Given the description of an element on the screen output the (x, y) to click on. 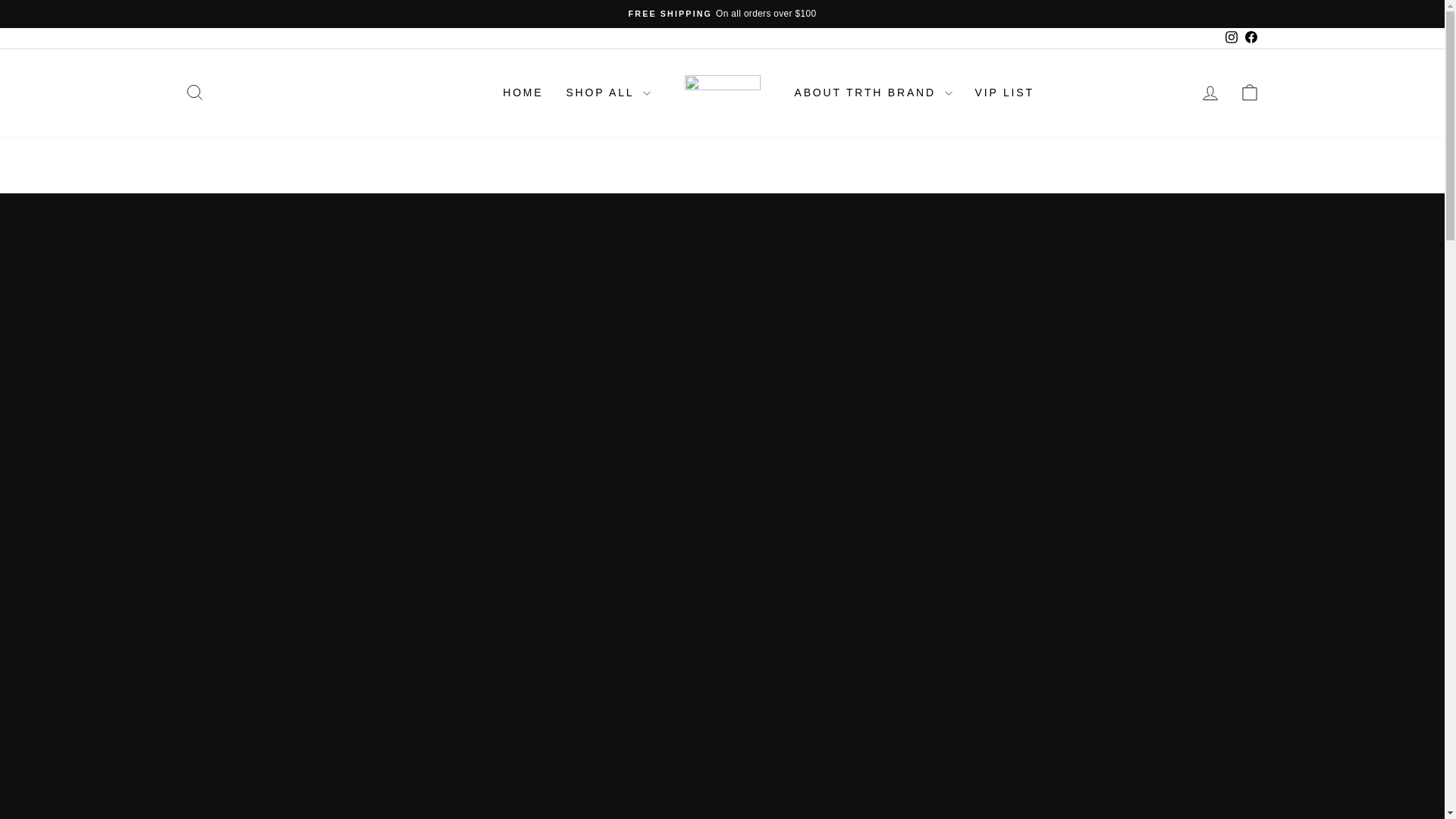
ICON-BAG-MINIMAL (1249, 92)
HOME (523, 92)
instagram (1231, 37)
ACCOUNT (1210, 93)
Trth Brand on Instagram (1230, 37)
ICON-SEARCH (1230, 37)
Facebook (194, 92)
Trth Brand on Facebook (1250, 37)
